Given the description of an element on the screen output the (x, y) to click on. 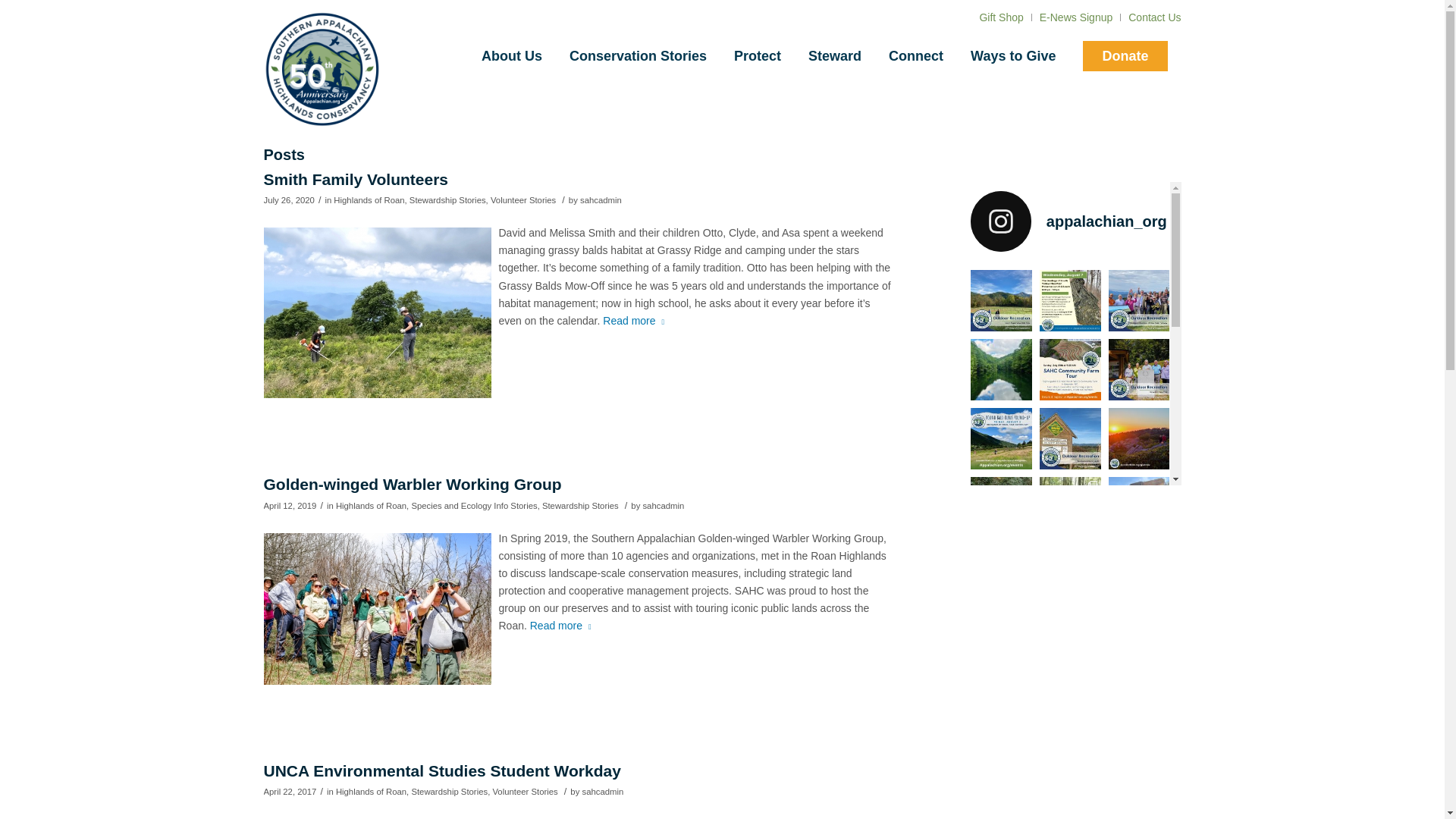
Ways to Give (1012, 56)
Conservation Stories (638, 56)
Gift Shop (1000, 16)
Donate (1124, 56)
About Us (511, 56)
Connect (915, 56)
Contact Us (1154, 16)
Steward (834, 56)
Posts by sahcadmin (601, 791)
Permanent Link: Golden-winged Warbler Working Group (412, 484)
Permanent Link: UNCA Environmental Studies Student Workday (442, 770)
E-News Signup (1076, 16)
Posts by sahcadmin (663, 505)
Posts by sahcadmin (600, 199)
Protect (757, 56)
